Given the description of an element on the screen output the (x, y) to click on. 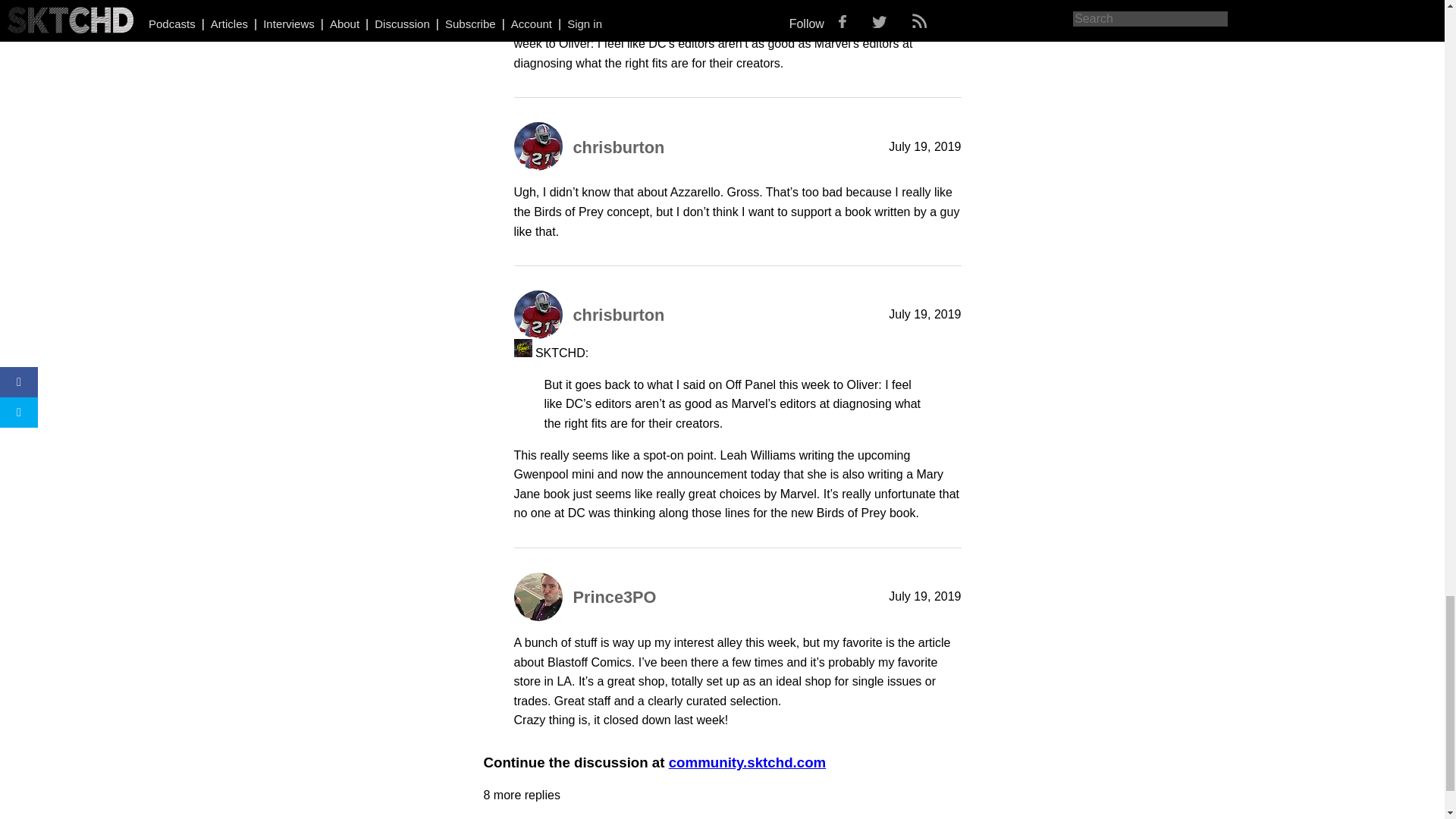
Prince3PO (614, 597)
community.sktchd.com (747, 762)
chrisburton (619, 147)
chrisburton (619, 314)
